Given the description of an element on the screen output the (x, y) to click on. 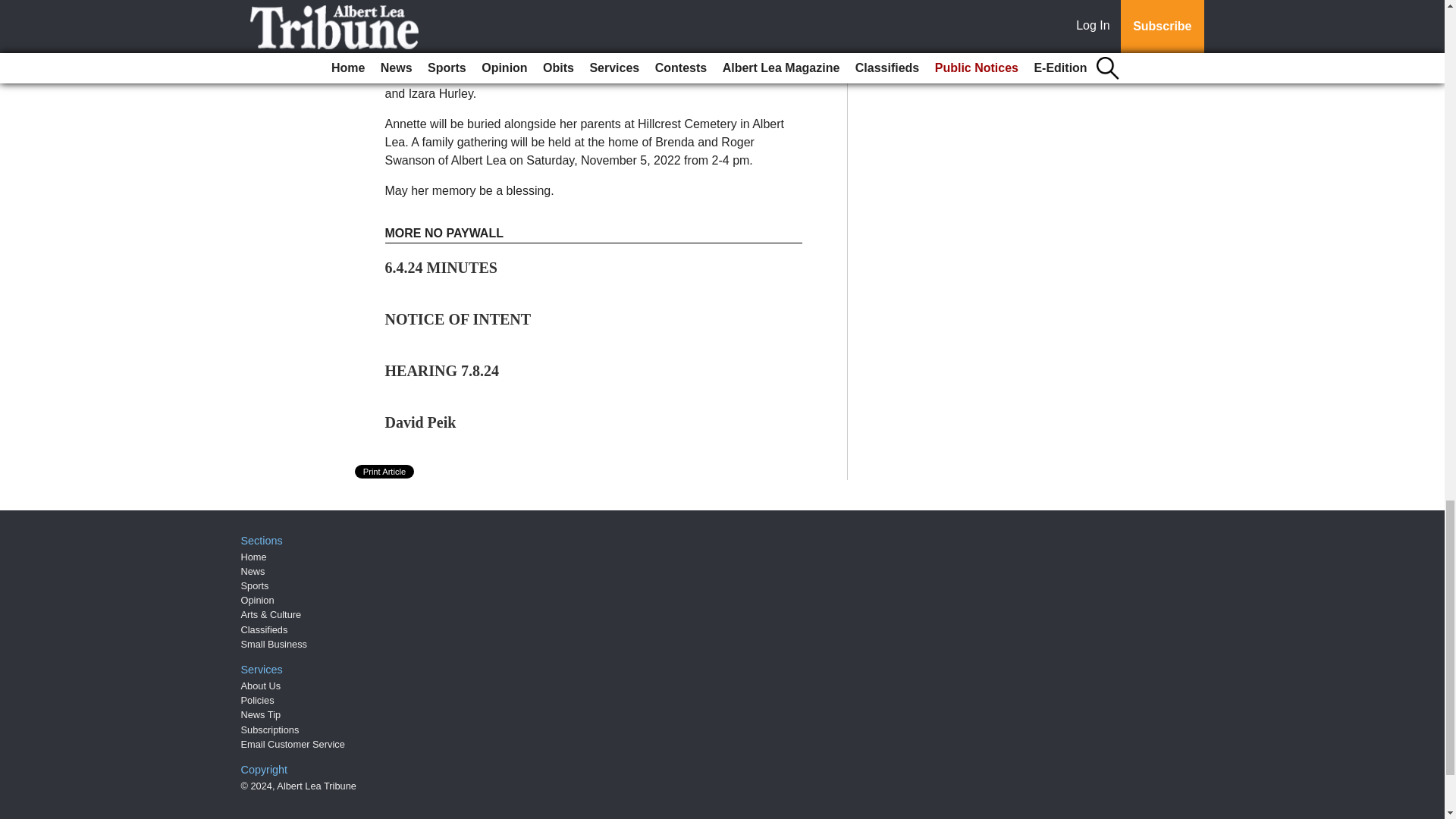
HEARING 7.8.24 (442, 370)
David Peik (421, 422)
6.4.24 MINUTES (441, 267)
NOTICE OF INTENT (458, 319)
